Given the description of an element on the screen output the (x, y) to click on. 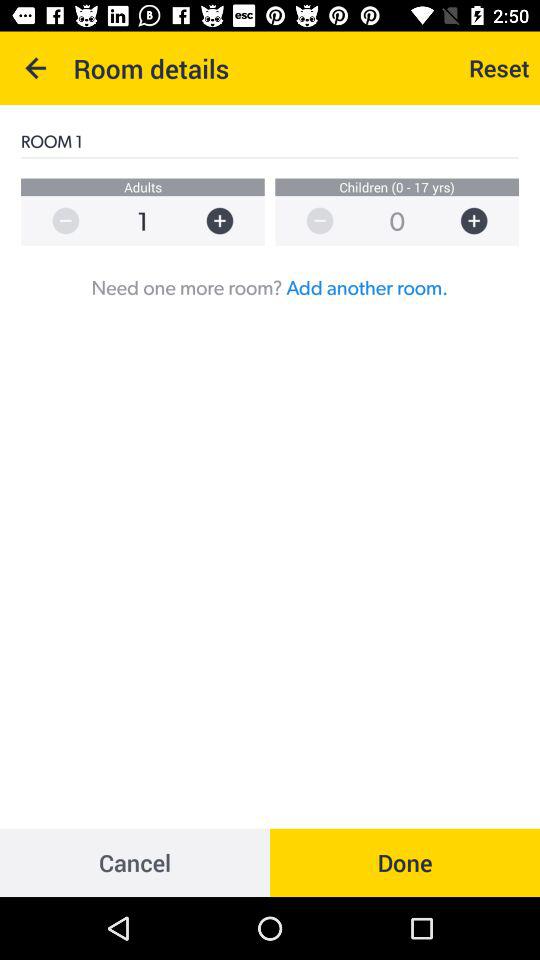
press icon to the right of the room details icon (499, 67)
